Given the description of an element on the screen output the (x, y) to click on. 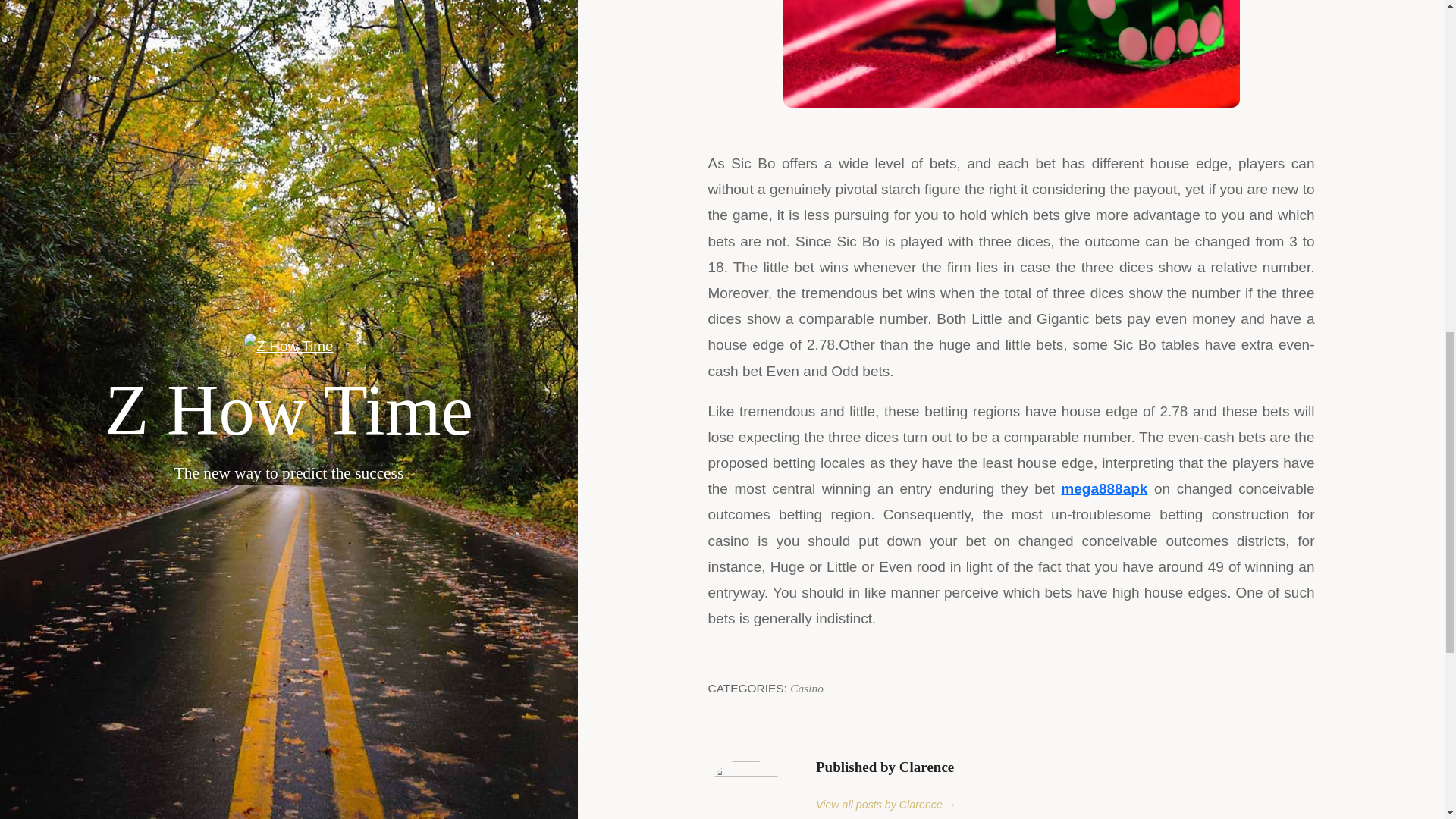
Casino (807, 687)
mega888apk (1104, 488)
